Given the description of an element on the screen output the (x, y) to click on. 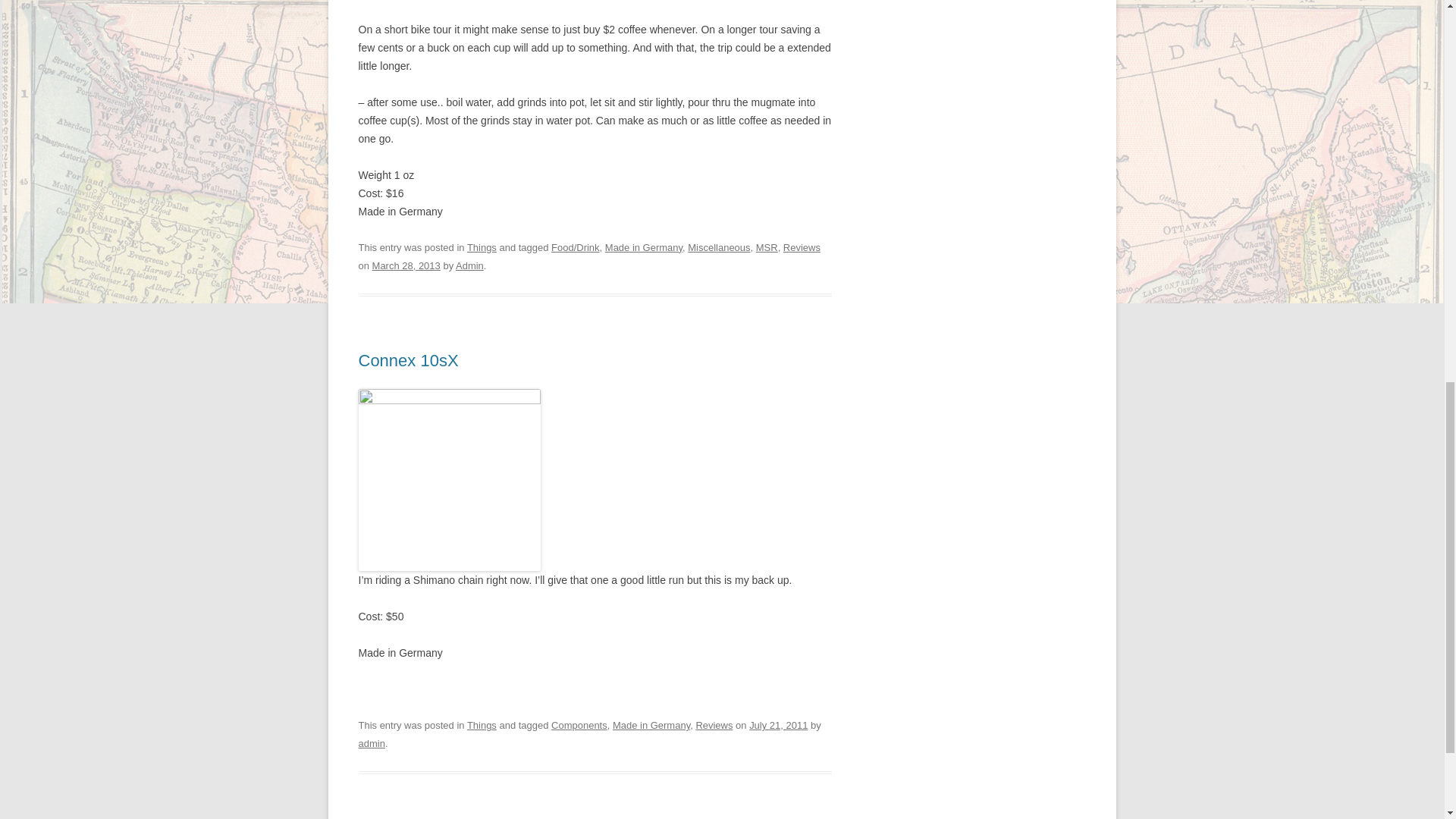
July 21, 2011 (778, 725)
Reviews (713, 725)
Connex 10sX (408, 360)
Admin (469, 265)
admin (371, 743)
Made in Germany (643, 247)
Components (579, 725)
View all posts by Admin (469, 265)
View all posts by admin (371, 743)
Reviews (802, 247)
